Given the description of an element on the screen output the (x, y) to click on. 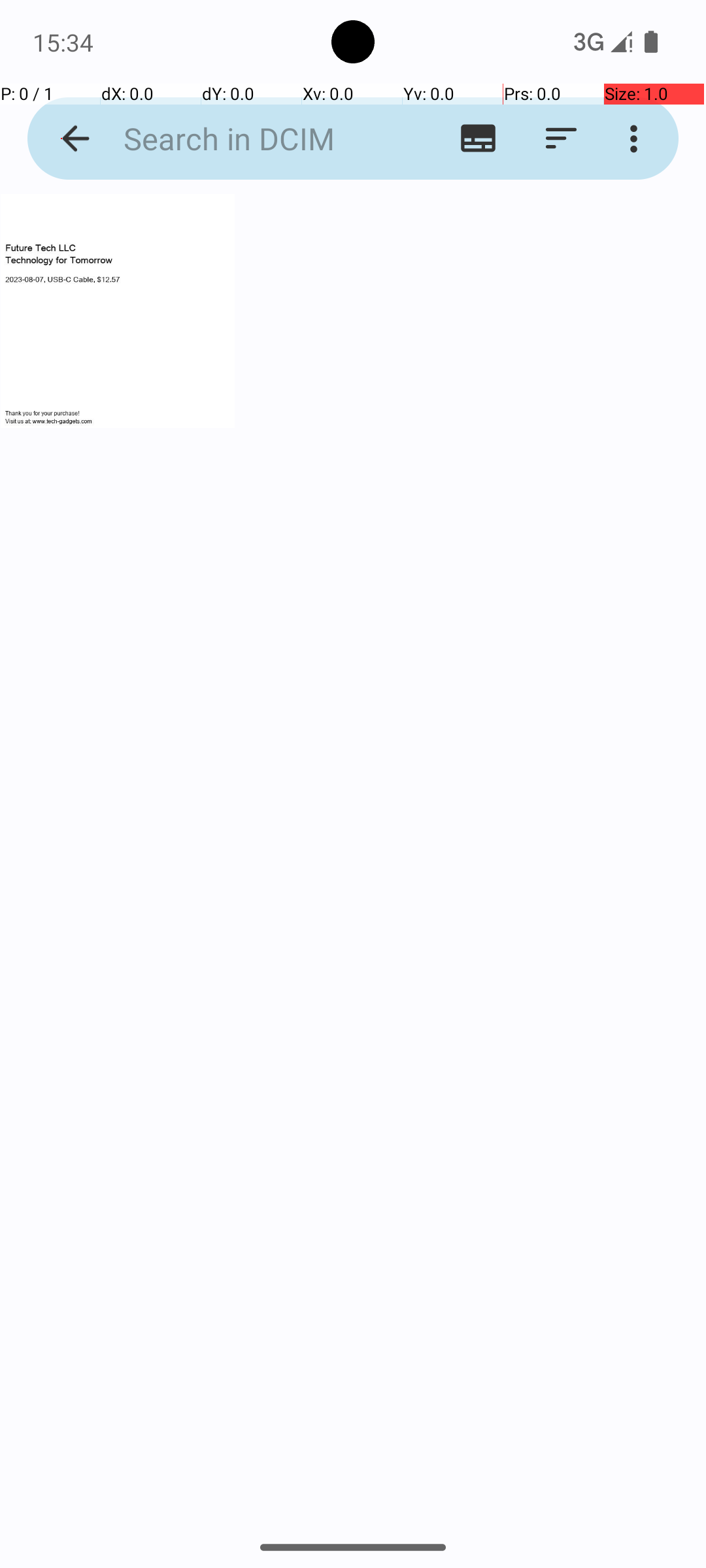
Search in DCIM Element type: android.widget.EditText (252, 138)
Toggle filename visibility Element type: android.widget.Button (477, 138)
